Given the description of an element on the screen output the (x, y) to click on. 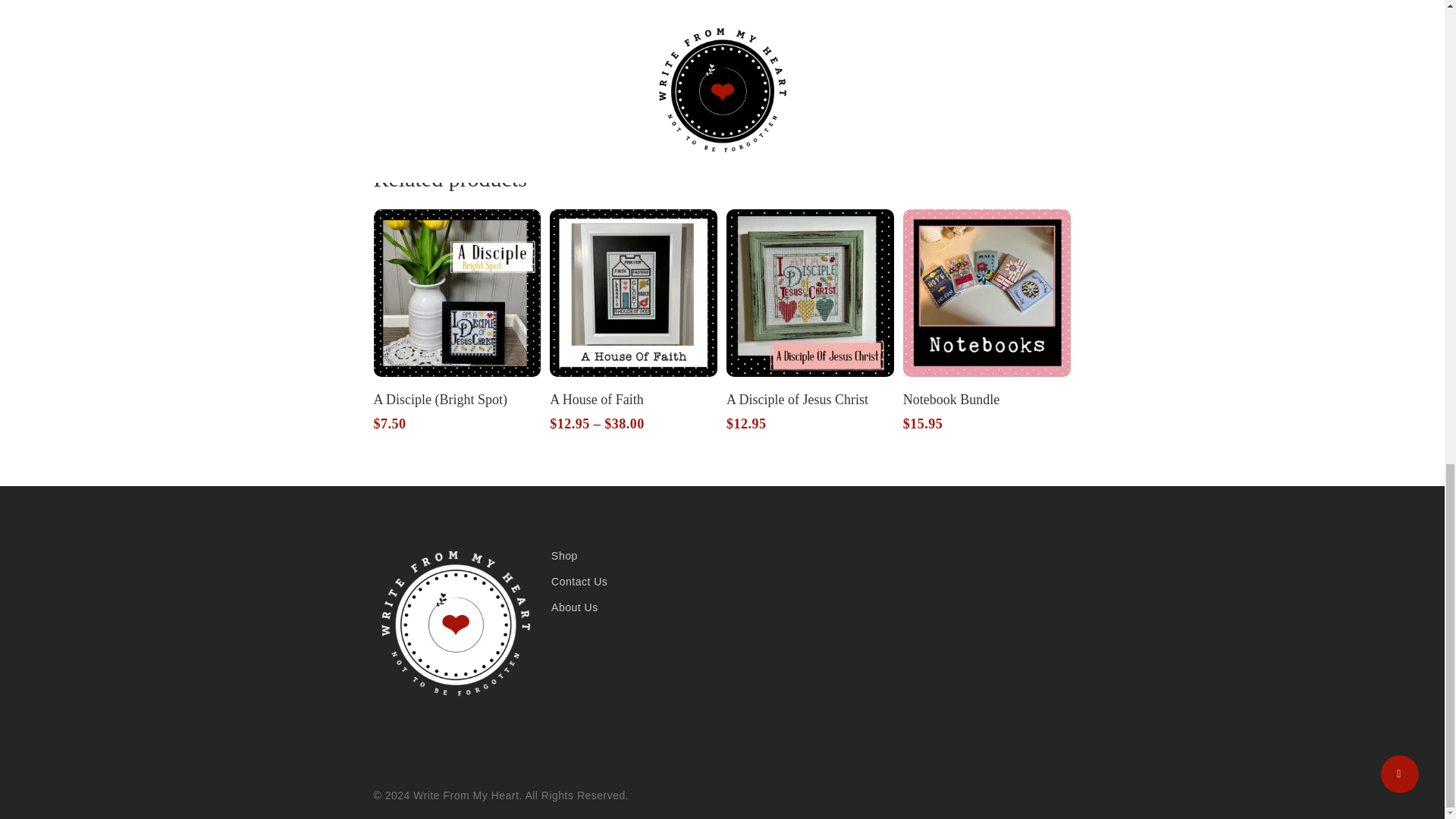
Submit (772, 99)
Submit (772, 99)
yes (750, 22)
Shop (632, 555)
